Given the description of an element on the screen output the (x, y) to click on. 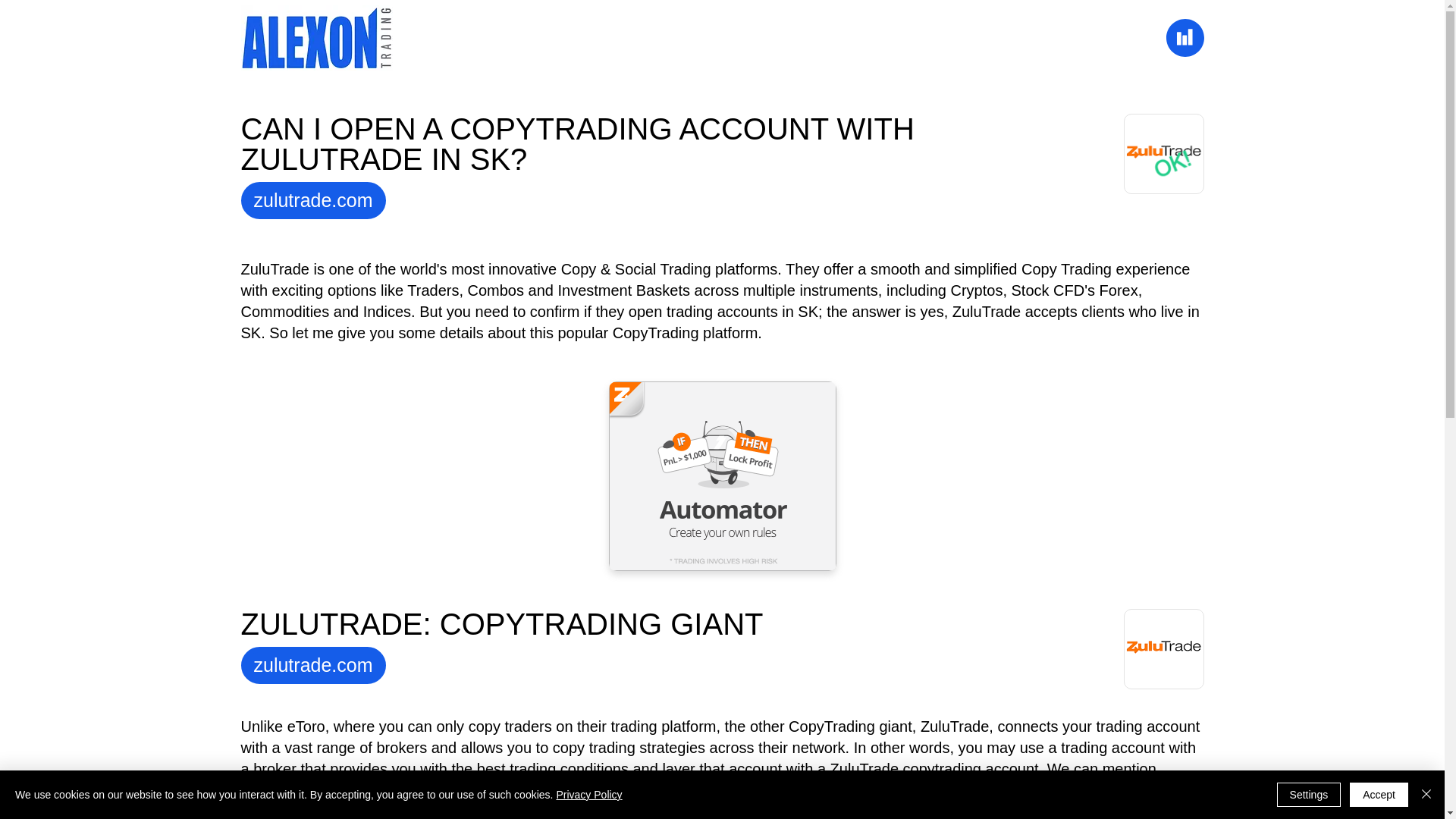
zulutrade.com (313, 665)
Privacy Policy (588, 794)
zulutrade.com (313, 200)
Accept (1378, 794)
Settings (1308, 794)
